Given the description of an element on the screen output the (x, y) to click on. 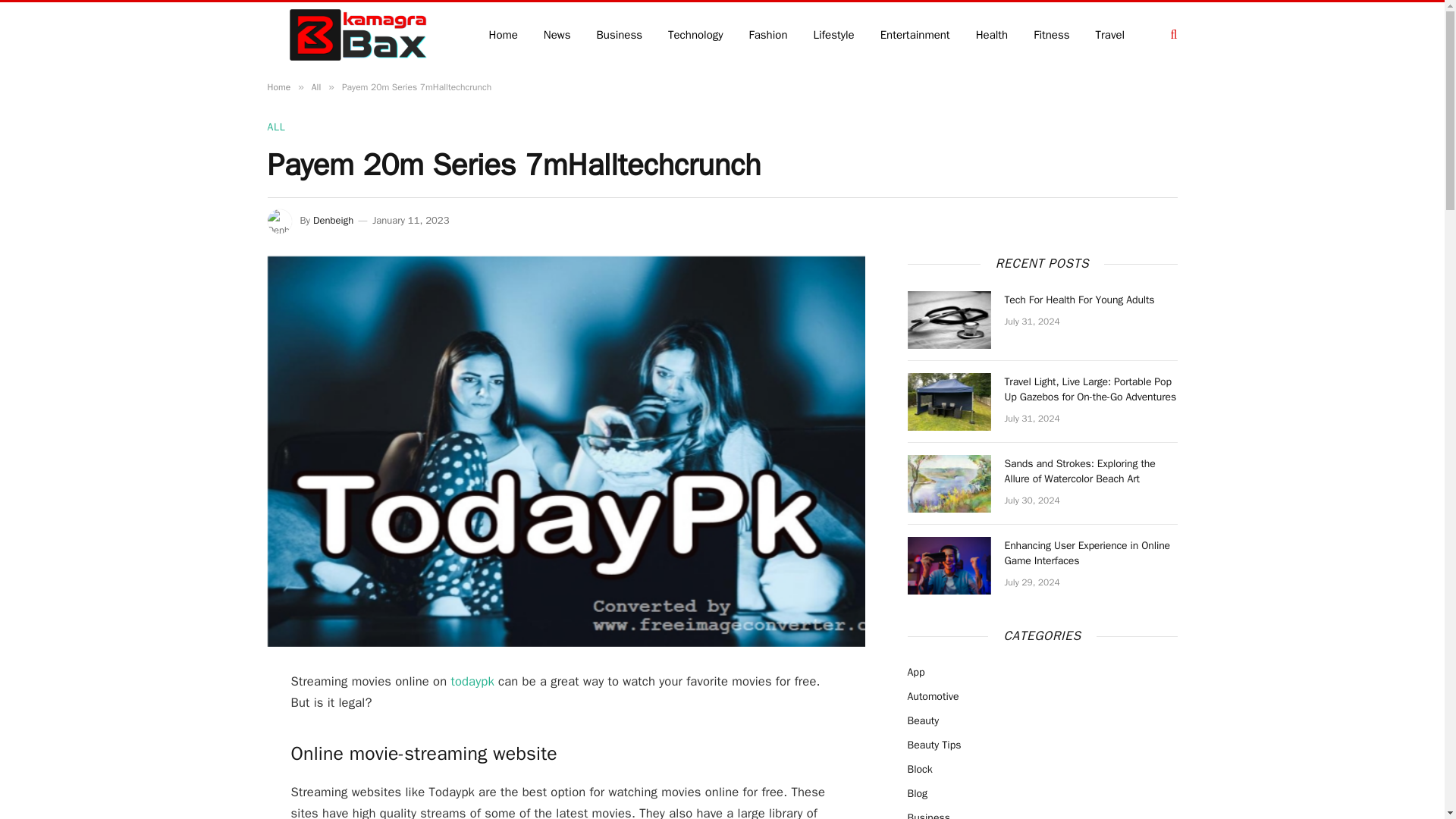
Health (992, 34)
Lifestyle (832, 34)
ALL (275, 126)
Entertainment (914, 34)
Fashion (768, 34)
Home (277, 87)
Denbeigh (333, 219)
Fitness (1050, 34)
Posts by Denbeigh (333, 219)
Business (619, 34)
Kamagrabax.com (357, 34)
Technology (695, 34)
todaypk (472, 681)
